Given the description of an element on the screen output the (x, y) to click on. 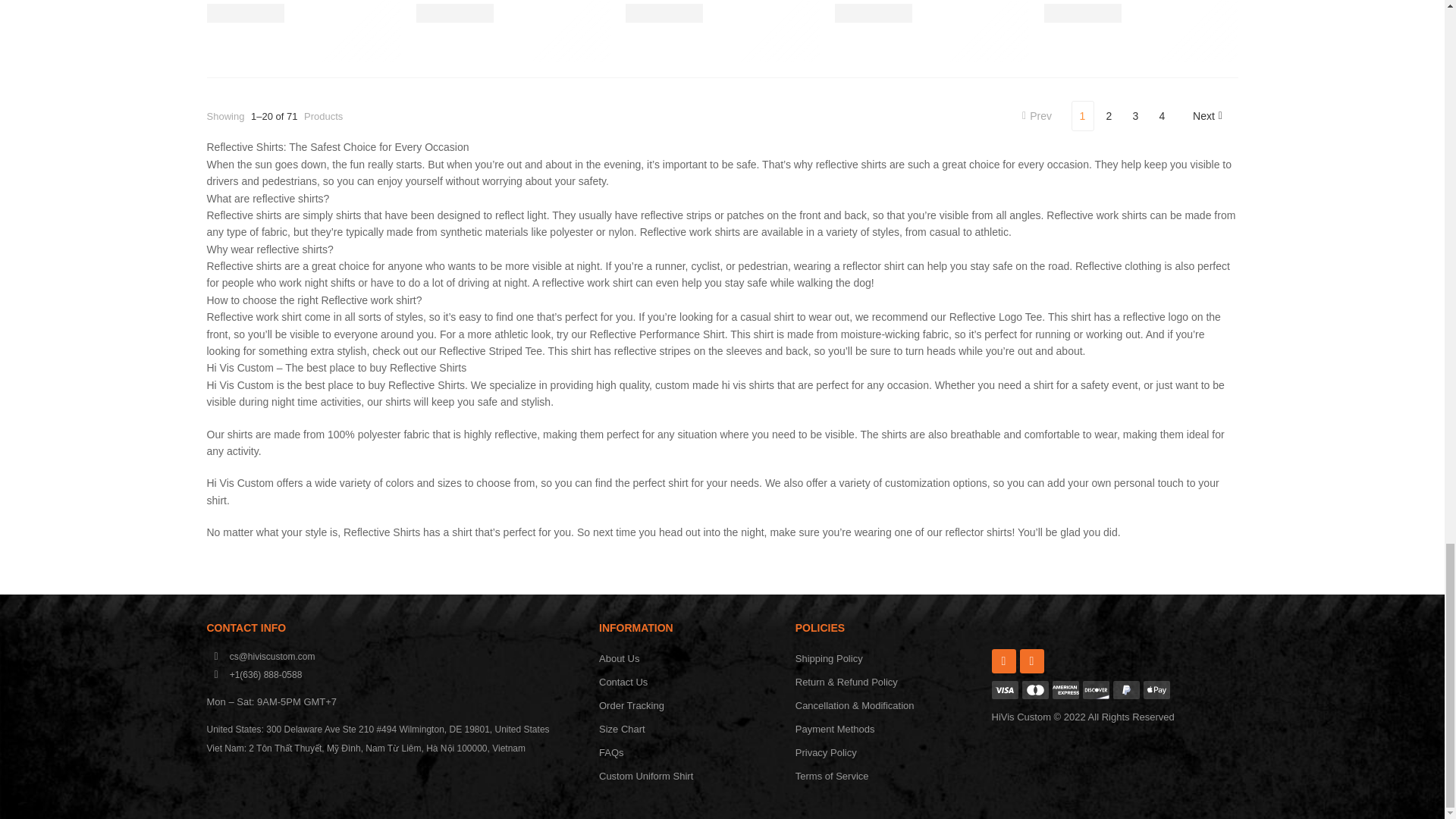
Contact Us (689, 682)
Size Chart (689, 730)
About Us (689, 658)
Order Tracking (689, 706)
Next (1206, 115)
Custom Uniform Shirt (689, 776)
FAQs (689, 753)
